Given the description of an element on the screen output the (x, y) to click on. 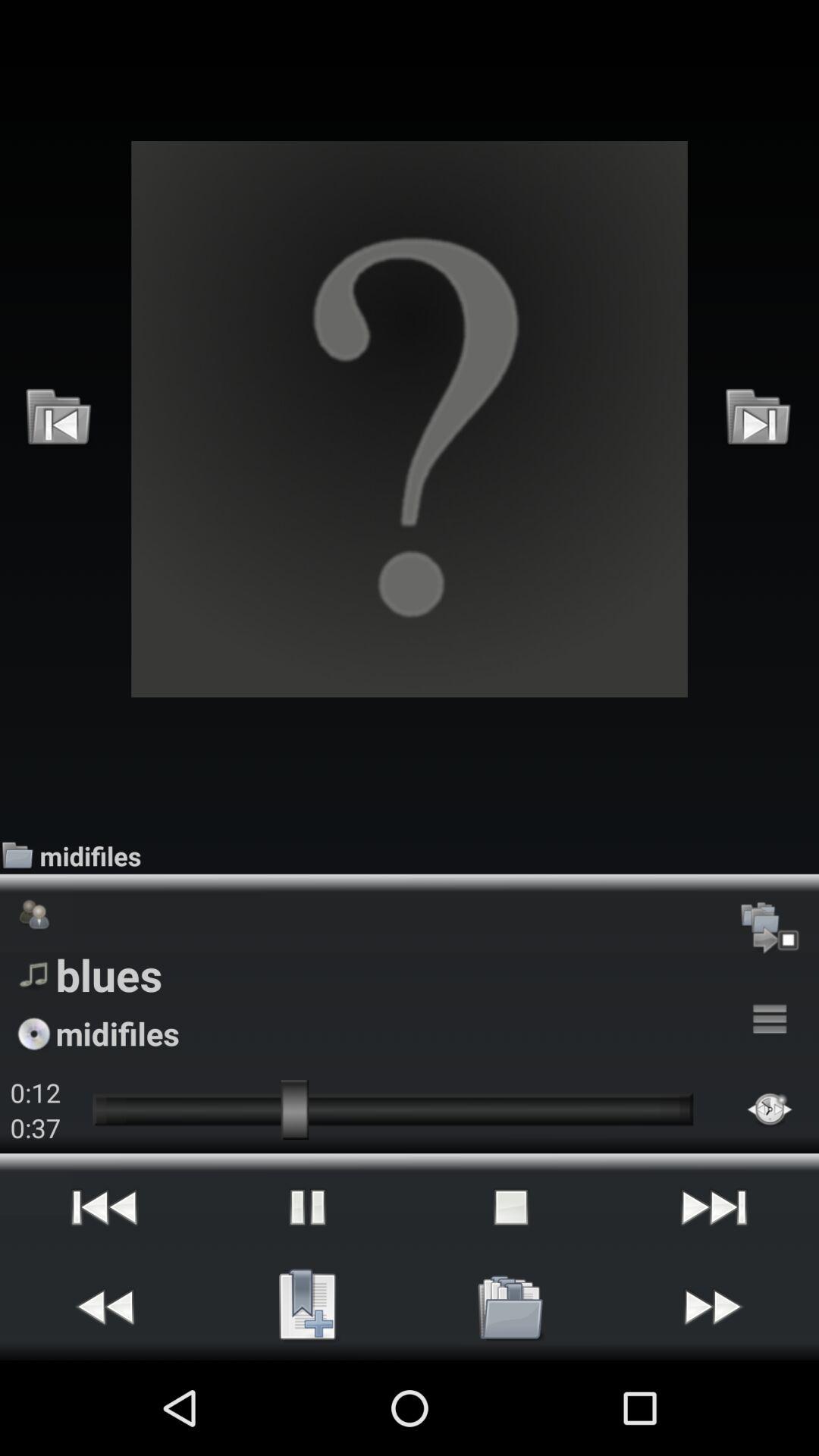
press item above the midifiles icon (758, 418)
